Given the description of an element on the screen output the (x, y) to click on. 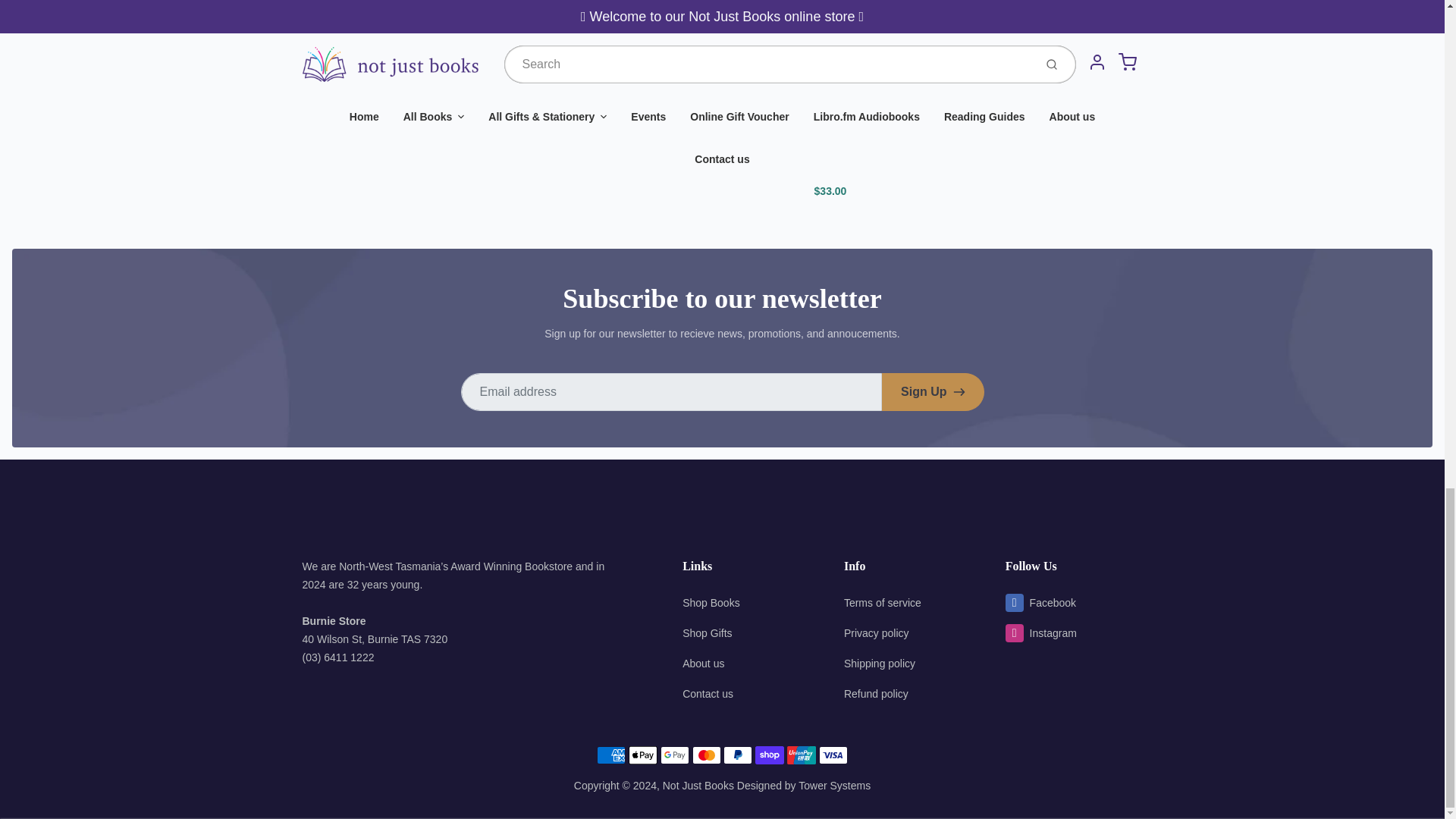
Mastercard (706, 755)
Apple Pay (643, 755)
PayPal (737, 755)
Google Pay (674, 755)
Union Pay (801, 755)
American Express (611, 755)
Shop Pay (769, 755)
Visa (832, 755)
